Given the description of an element on the screen output the (x, y) to click on. 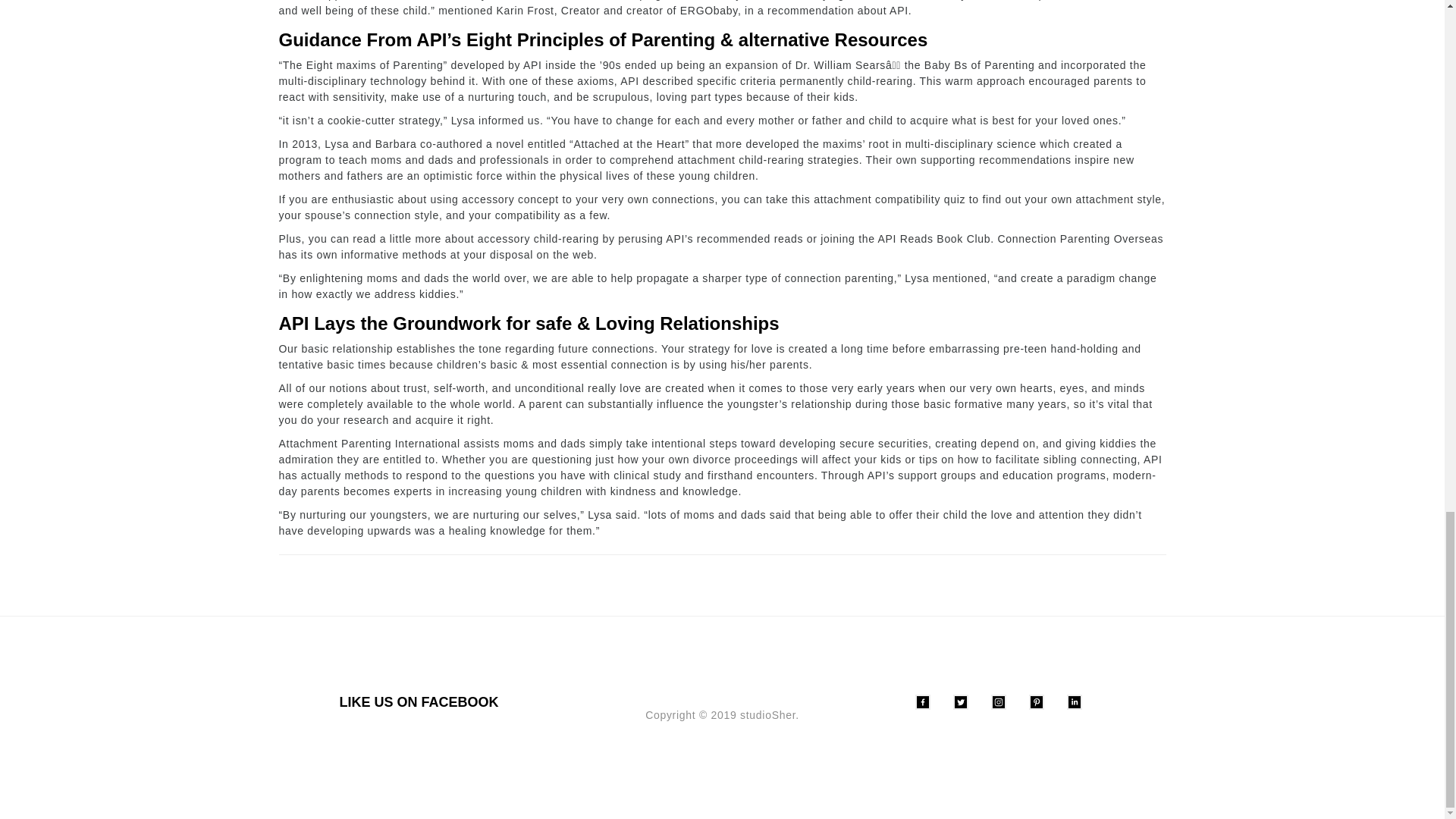
Twitter (960, 702)
Instagram (998, 702)
Linkedin (1074, 702)
Pinterest (1036, 702)
Facebook (922, 702)
